Given the description of an element on the screen output the (x, y) to click on. 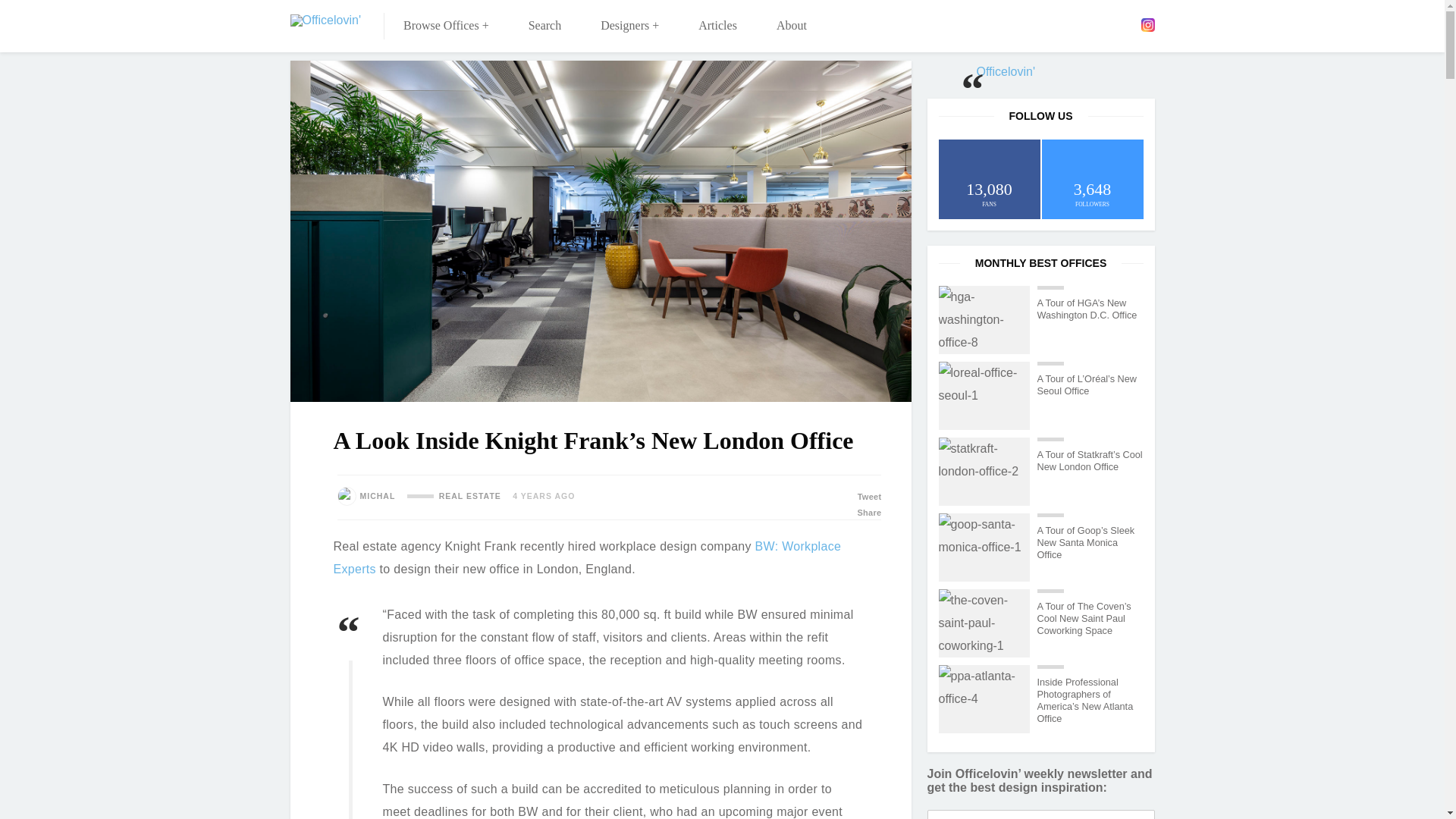
Share link on LinkedIn (755, 512)
Share link on Twitter (755, 496)
Search (544, 25)
Officelovin on Instagram (1147, 24)
Officelovin on Pinterest (1125, 24)
Officelovin on LinkedIn (1102, 24)
Officelovin on Twitter (1082, 24)
Officelovin on Facebook (1058, 24)
